Given the description of an element on the screen output the (x, y) to click on. 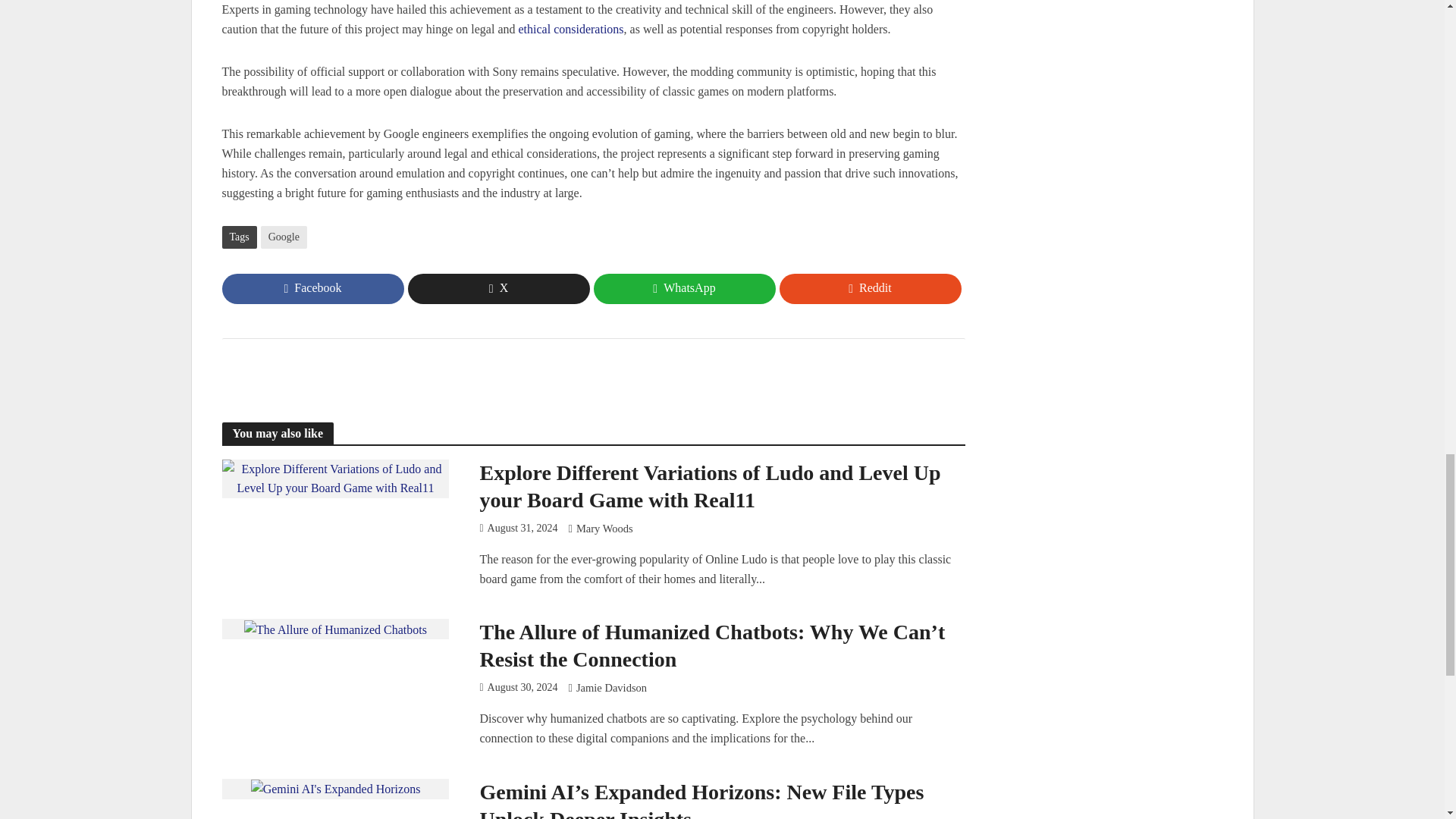
Facebook (312, 288)
Jamie Davidson (611, 688)
ethical considerations (571, 30)
Google (283, 237)
Reddit (869, 288)
X (498, 288)
